Given the description of an element on the screen output the (x, y) to click on. 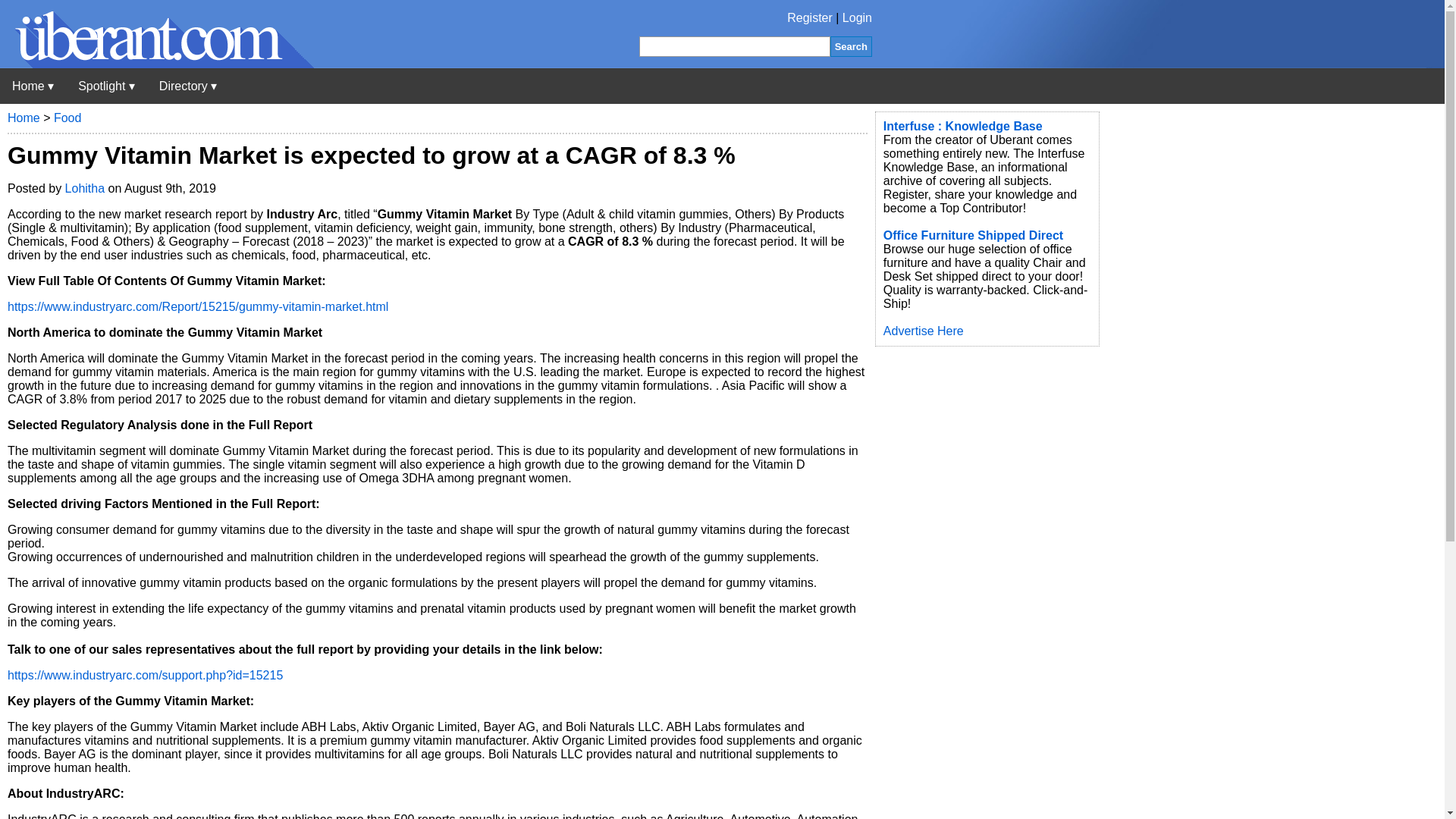
Uberant (157, 63)
Uberant (32, 85)
Register (809, 17)
Search (850, 46)
Login (857, 17)
Search (850, 46)
